Given the description of an element on the screen output the (x, y) to click on. 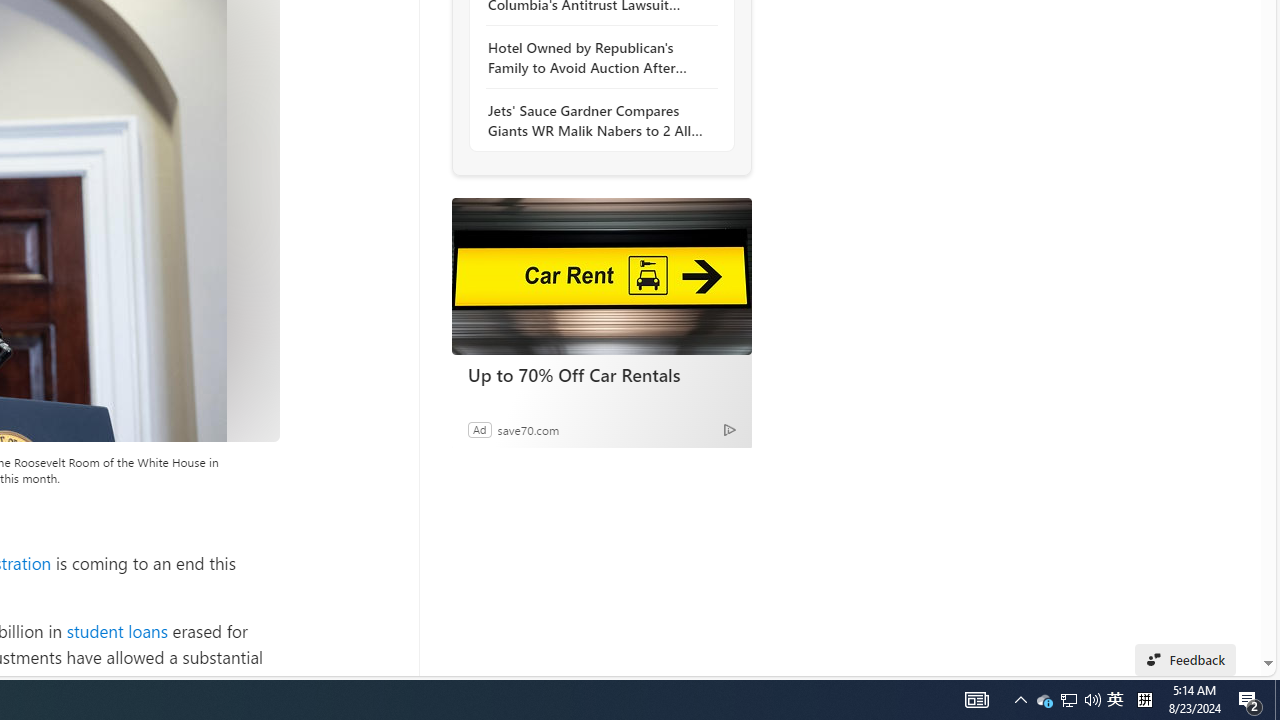
Up to 70% Off Car Rentals (601, 374)
student loans (116, 630)
Up to 70% Off Car Rentals (601, 276)
save70.com (527, 429)
